Given the description of an element on the screen output the (x, y) to click on. 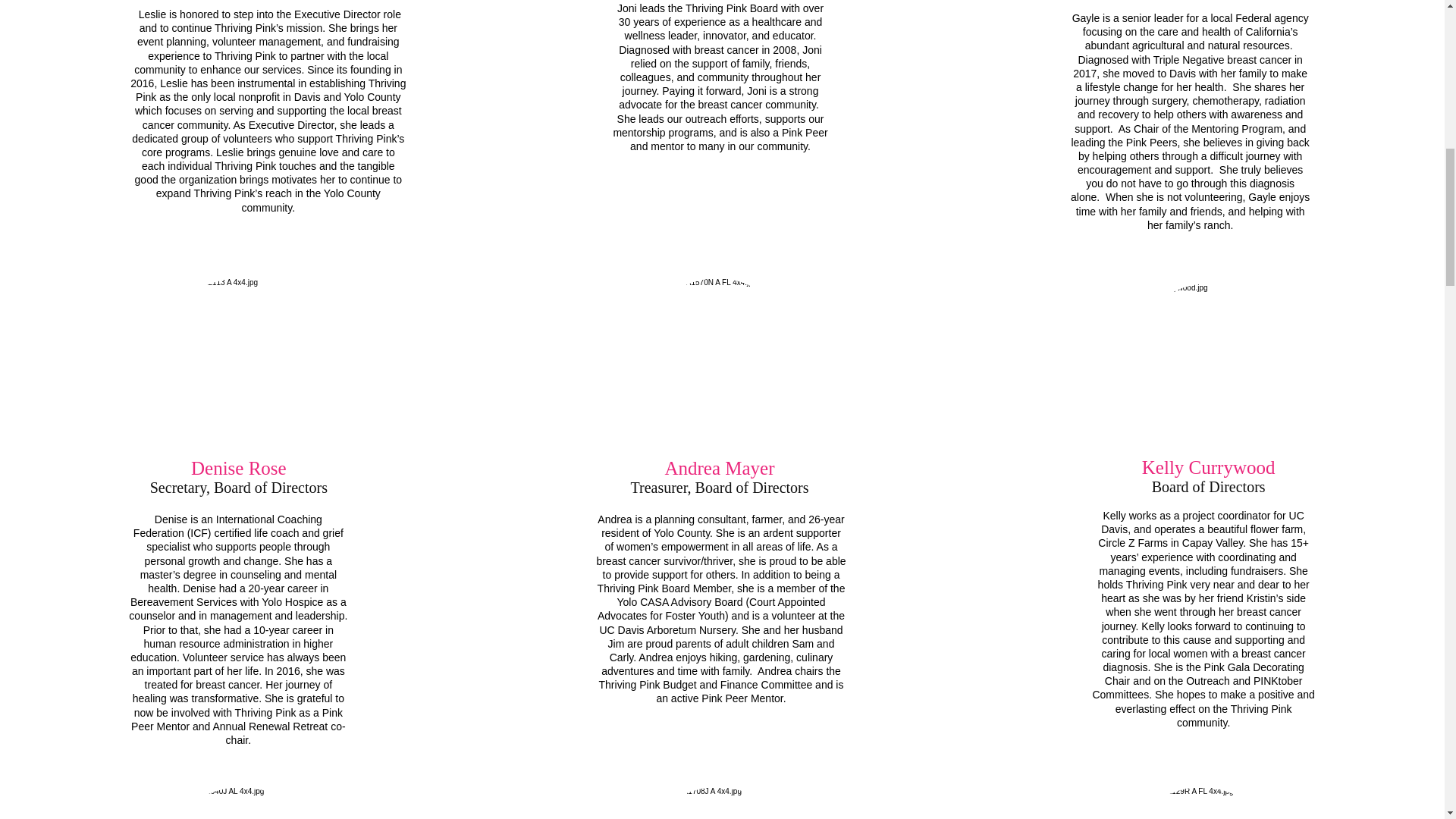
guy3.jpg (1207, 365)
guy4.jpg (716, 803)
guy2.jpg (239, 360)
guy2.jpg (240, 803)
guy3.jpg (716, 360)
guy3.jpg (1201, 803)
